Given the description of an element on the screen output the (x, y) to click on. 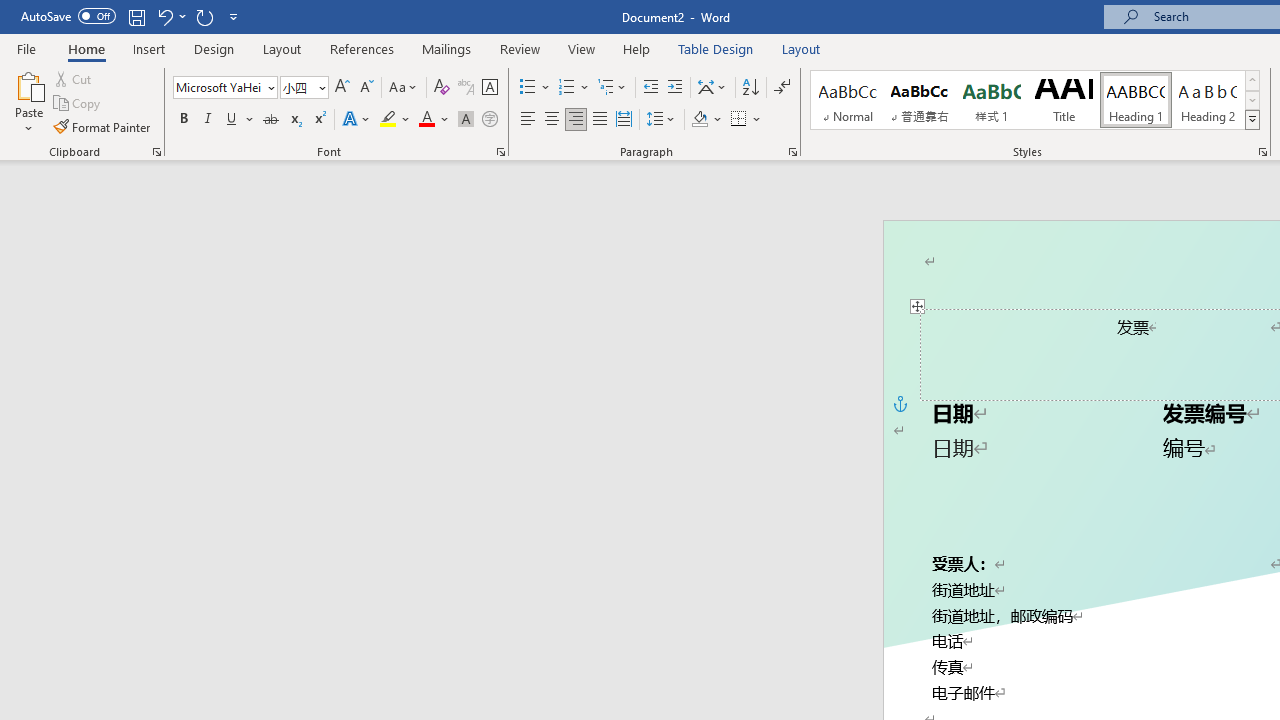
Undo Apply Quick Style (164, 15)
Character Shading (465, 119)
Asian Layout (712, 87)
Justify (599, 119)
Repeat Doc Close (204, 15)
Superscript (319, 119)
